Given the description of an element on the screen output the (x, y) to click on. 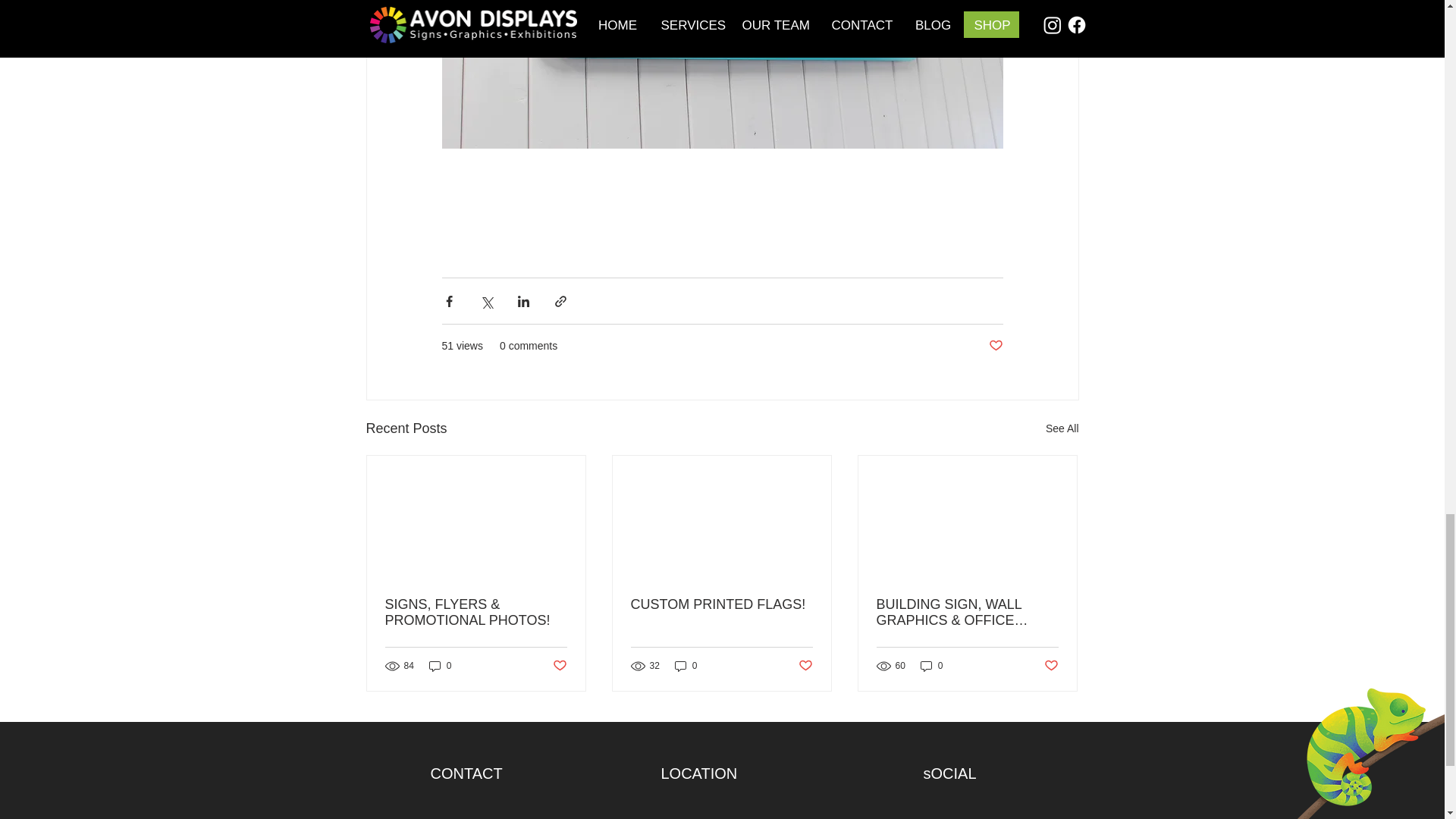
0 (440, 666)
0 (685, 666)
Post not marked as liked (995, 345)
See All (1061, 428)
CUSTOM PRINTED FLAGS! (721, 604)
Post not marked as liked (558, 666)
Post not marked as liked (804, 666)
Post not marked as liked (1050, 666)
0 (931, 666)
